Given the description of an element on the screen output the (x, y) to click on. 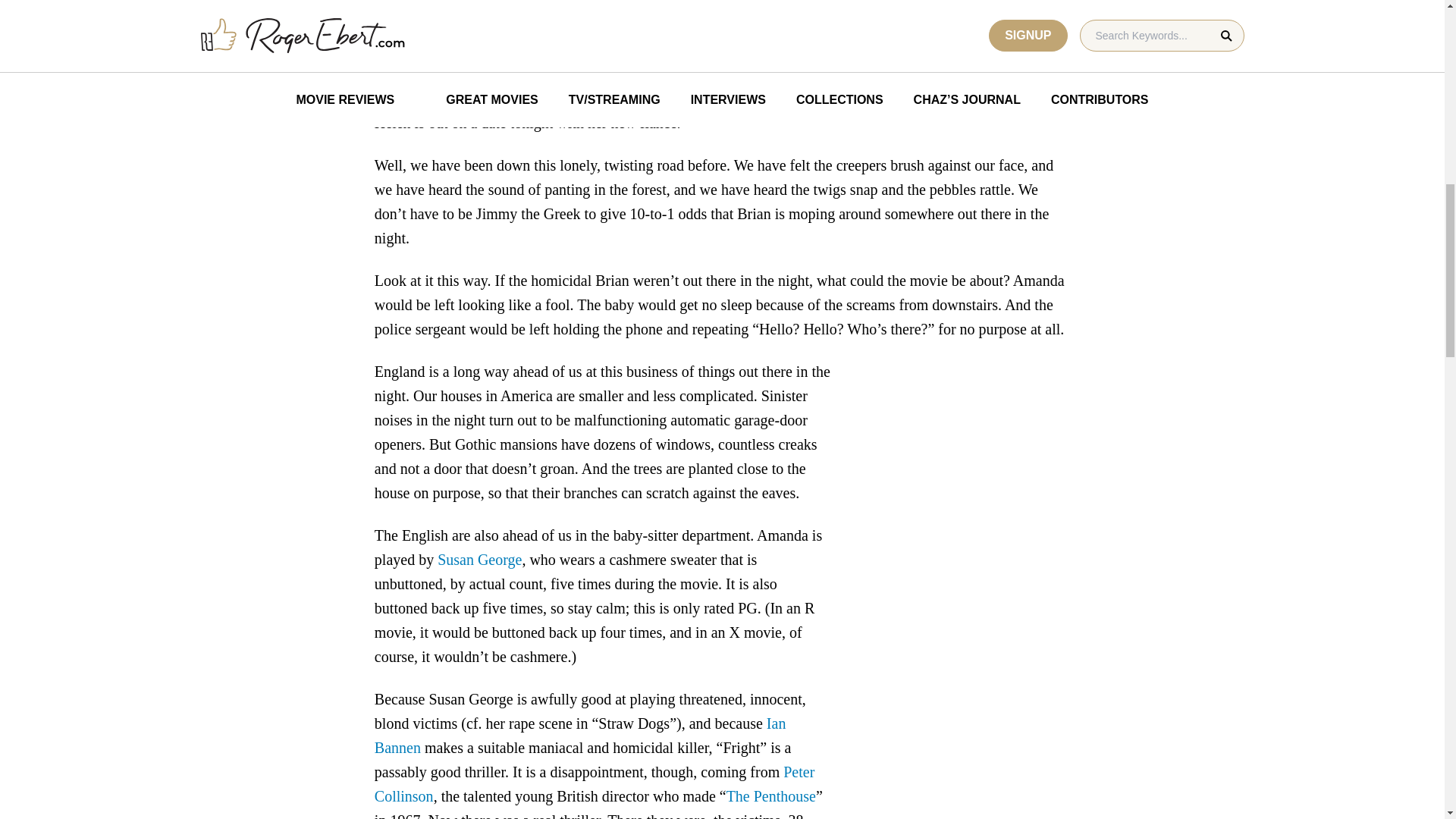
The Penthouse (770, 795)
Ian Bannen (580, 734)
Susan George (479, 559)
Peter Collinson (593, 783)
